Given the description of an element on the screen output the (x, y) to click on. 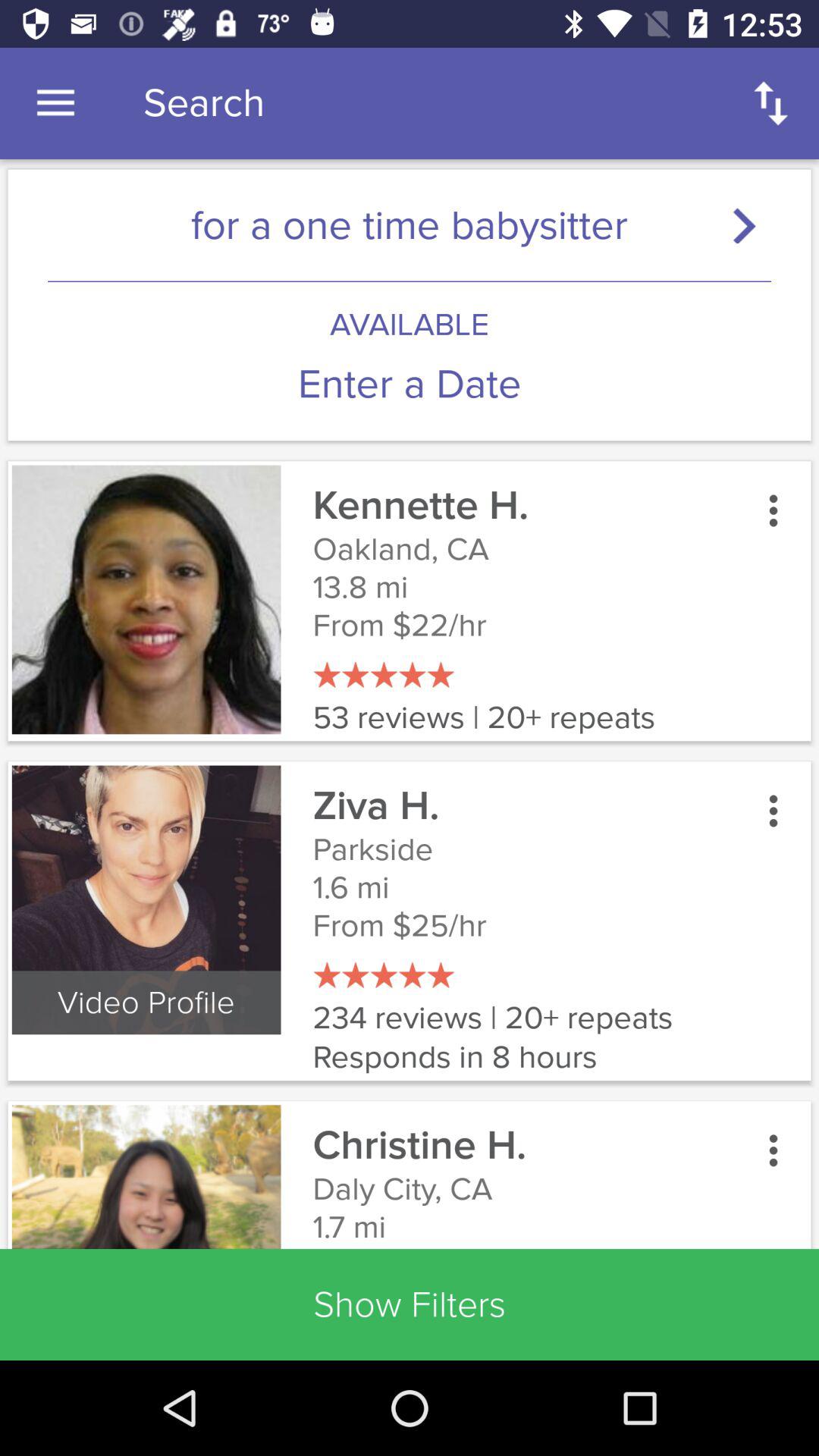
select babysitter type (751, 224)
